Given the description of an element on the screen output the (x, y) to click on. 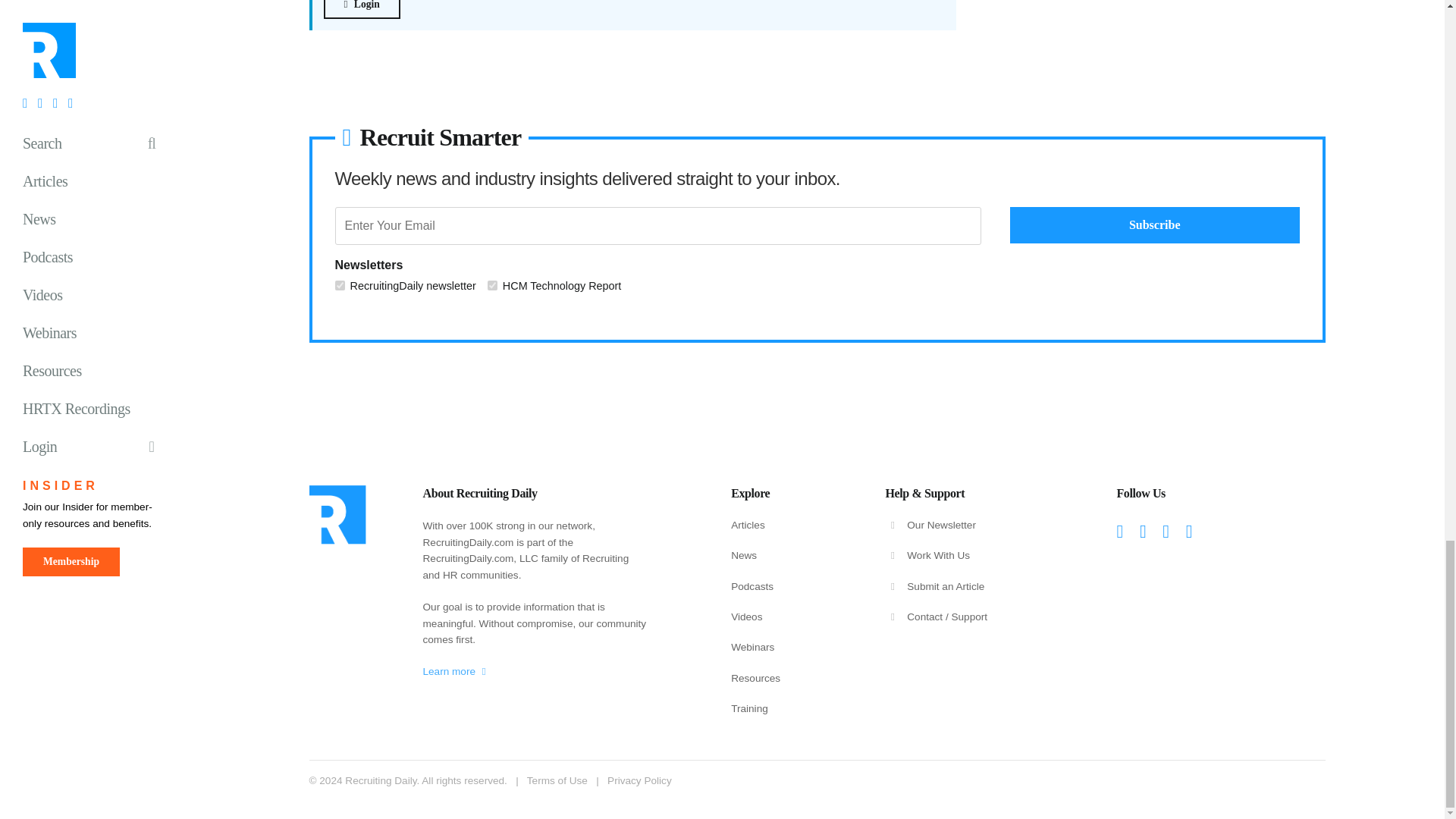
HCM Technology Report (492, 285)
RecruitingDaily newsletter (339, 285)
Subscribe (1155, 225)
